Given the description of an element on the screen output the (x, y) to click on. 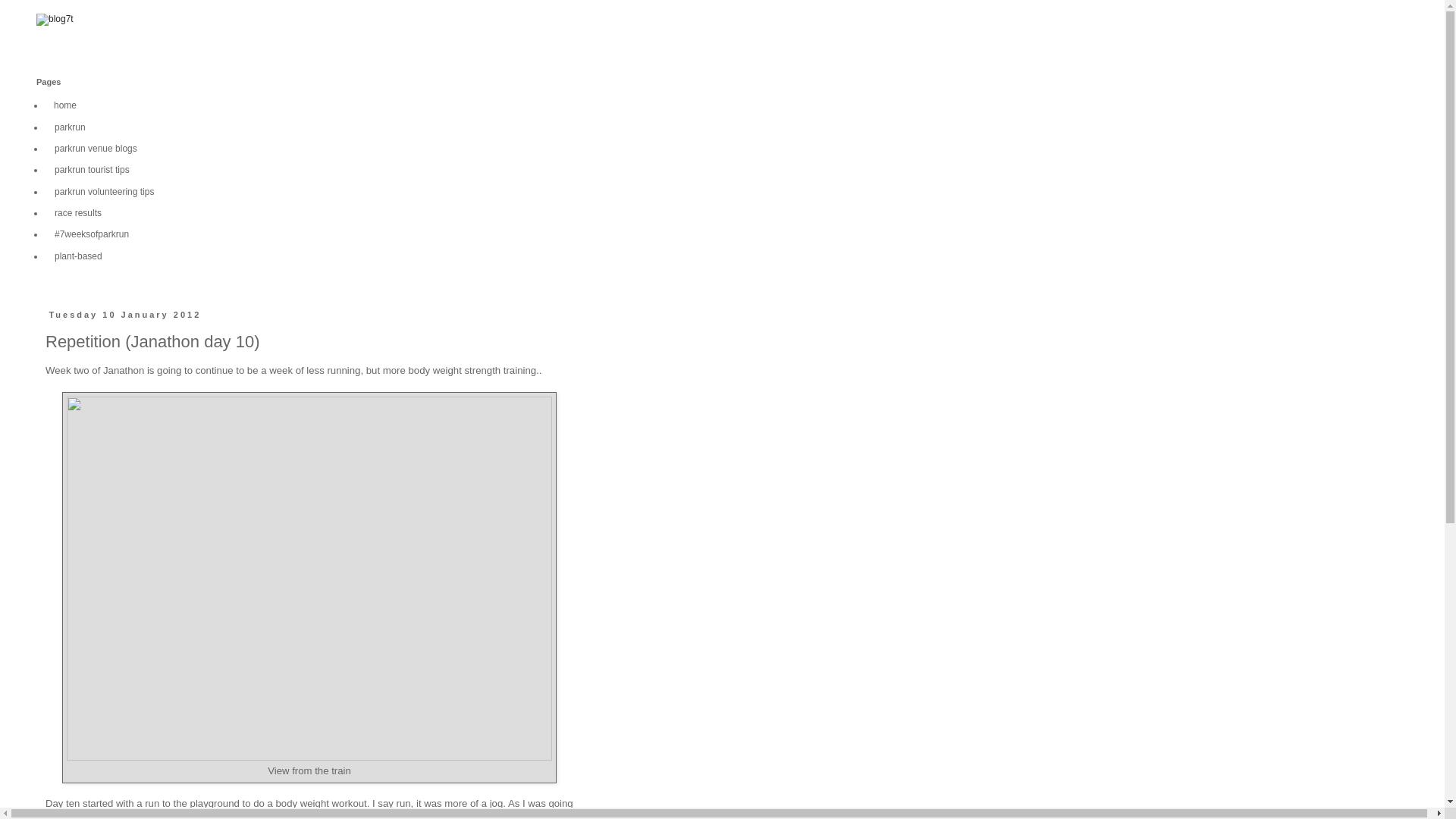
home (65, 105)
parkrun venue blogs (96, 148)
plant-based (78, 255)
parkrun volunteering tips (104, 190)
parkrun (70, 126)
parkrun tourist tips (92, 169)
race results (78, 212)
